Given the description of an element on the screen output the (x, y) to click on. 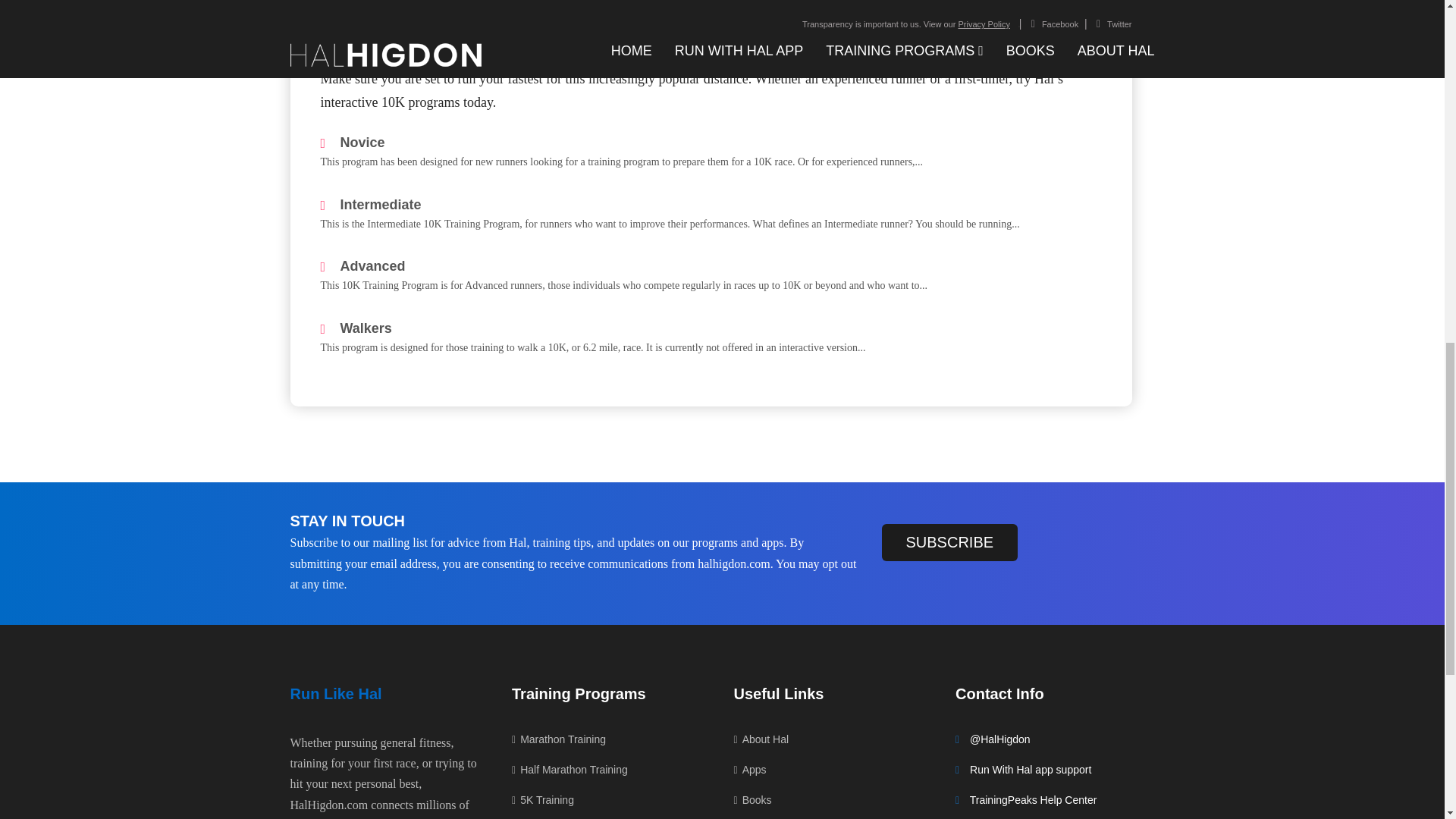
Subscribe (948, 542)
Subscribe (948, 542)
Novice (352, 143)
Intermediate (370, 205)
Advanced (362, 266)
Walkers (355, 329)
Half Marathon Training (569, 770)
Marathon Training (558, 743)
